Given the description of an element on the screen output the (x, y) to click on. 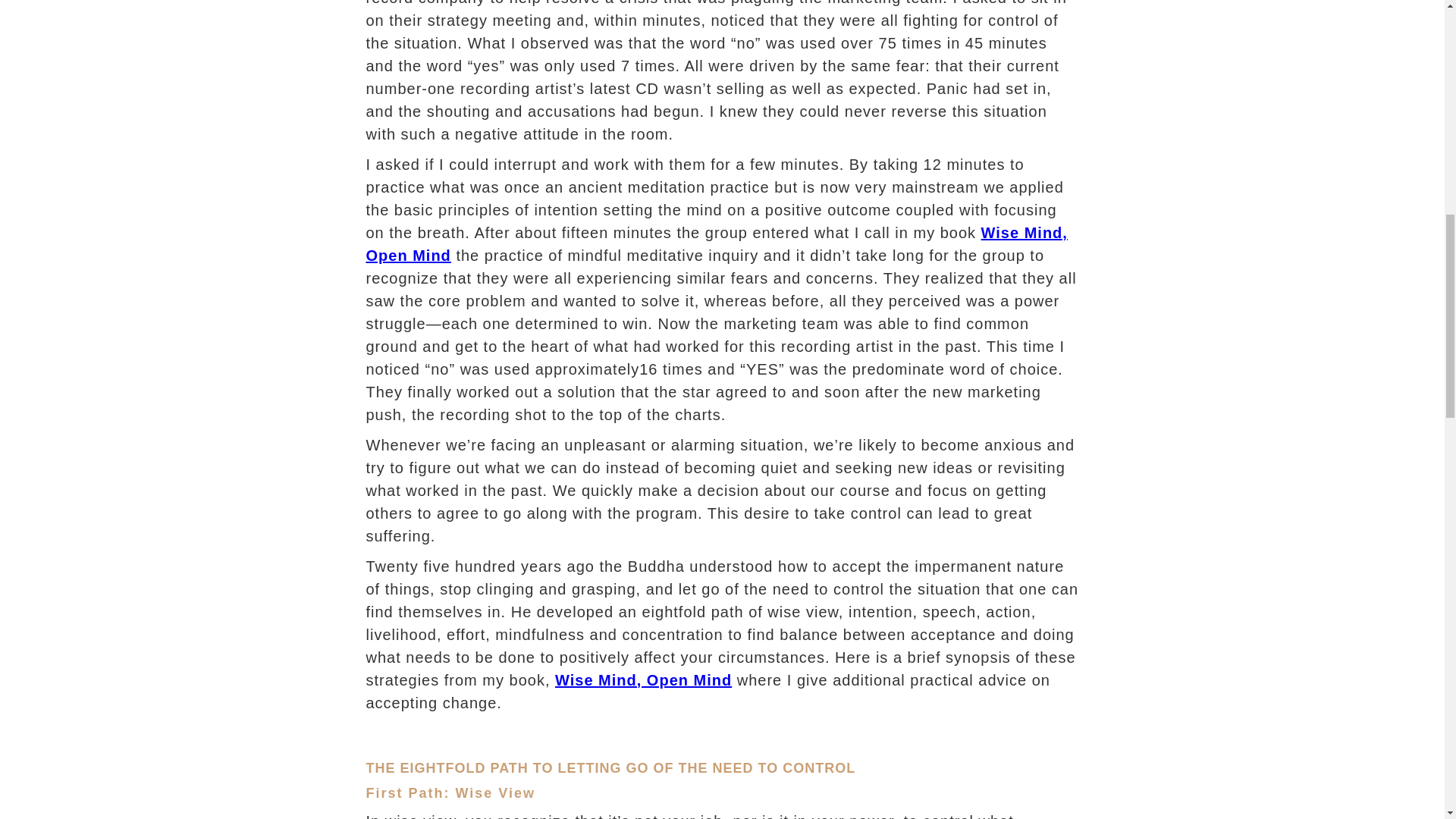
Wise Mind, Open Mind (716, 243)
Wise Mind, Open Mind (643, 679)
